Given the description of an element on the screen output the (x, y) to click on. 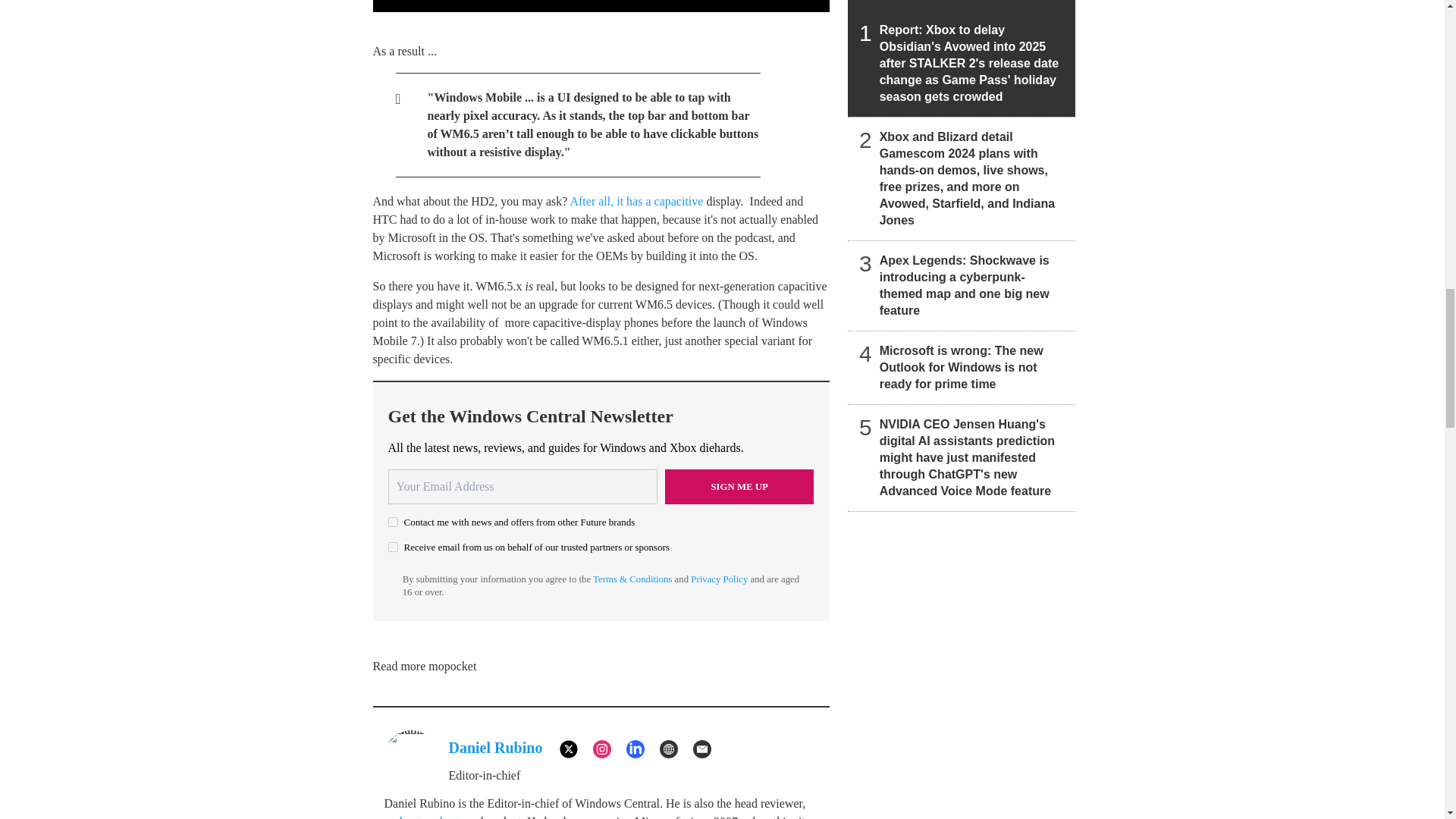
Sign me up (739, 486)
on (392, 521)
on (392, 547)
Privacy Policy (719, 579)
After all, it has a capacitive (636, 201)
Sign me up (739, 486)
Daniel Rubino (495, 747)
